Given the description of an element on the screen output the (x, y) to click on. 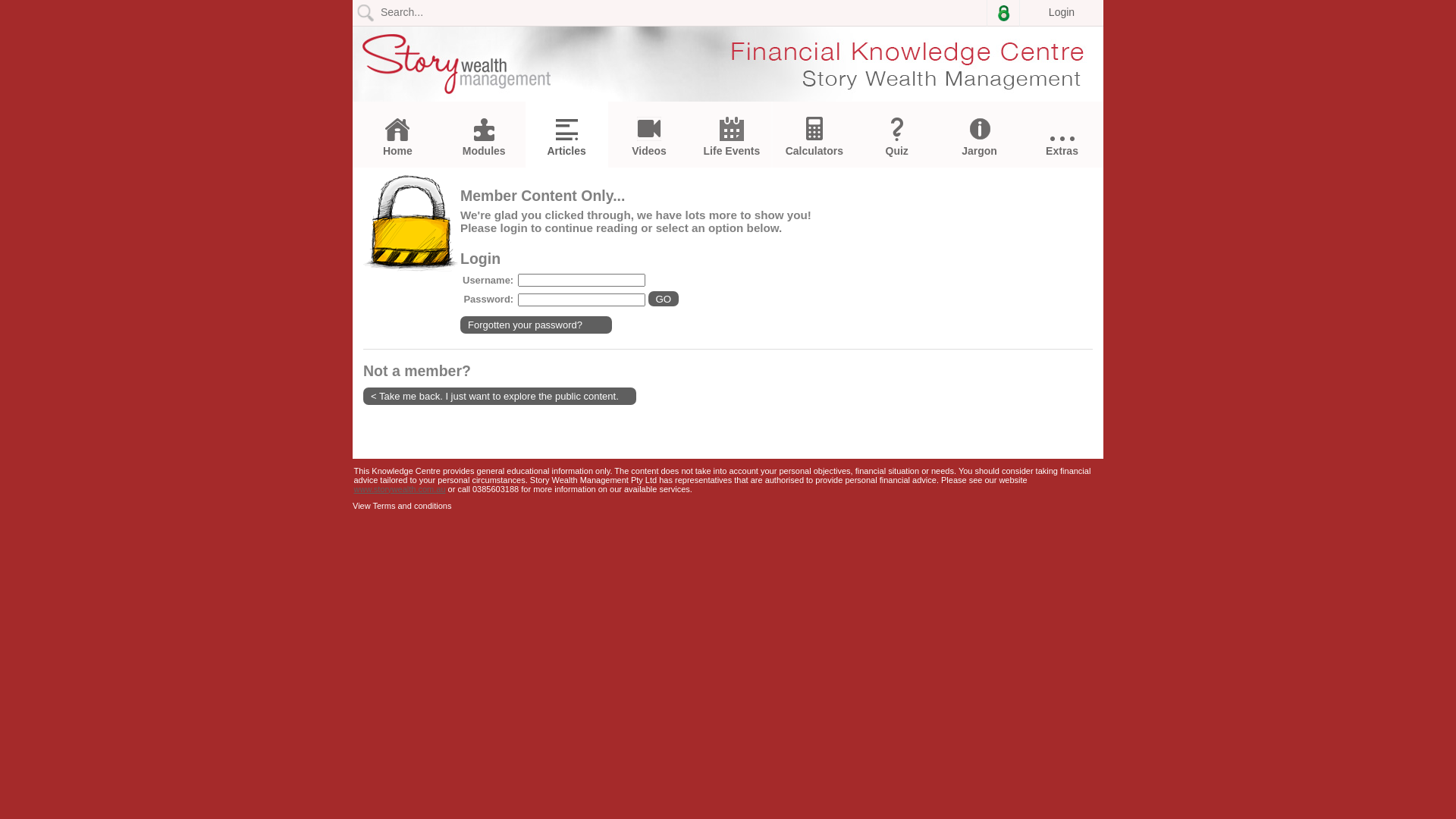
Home Element type: text (397, 136)
Calculators Element type: text (813, 136)
Videos Element type: text (649, 136)
Extras Element type: text (1061, 146)
Modules Element type: text (483, 136)
Life Events Element type: text (731, 136)
< Take me back. I just want to explore the public content. Element type: text (499, 395)
Quiz Element type: text (896, 136)
GO Element type: text (663, 298)
Jargon Element type: text (979, 136)
Forgotten your password? Element type: text (535, 324)
View Terms and conditions Element type: text (401, 505)
Articles Element type: text (566, 137)
www.storywealth.com.au Element type: text (399, 488)
